Given the description of an element on the screen output the (x, y) to click on. 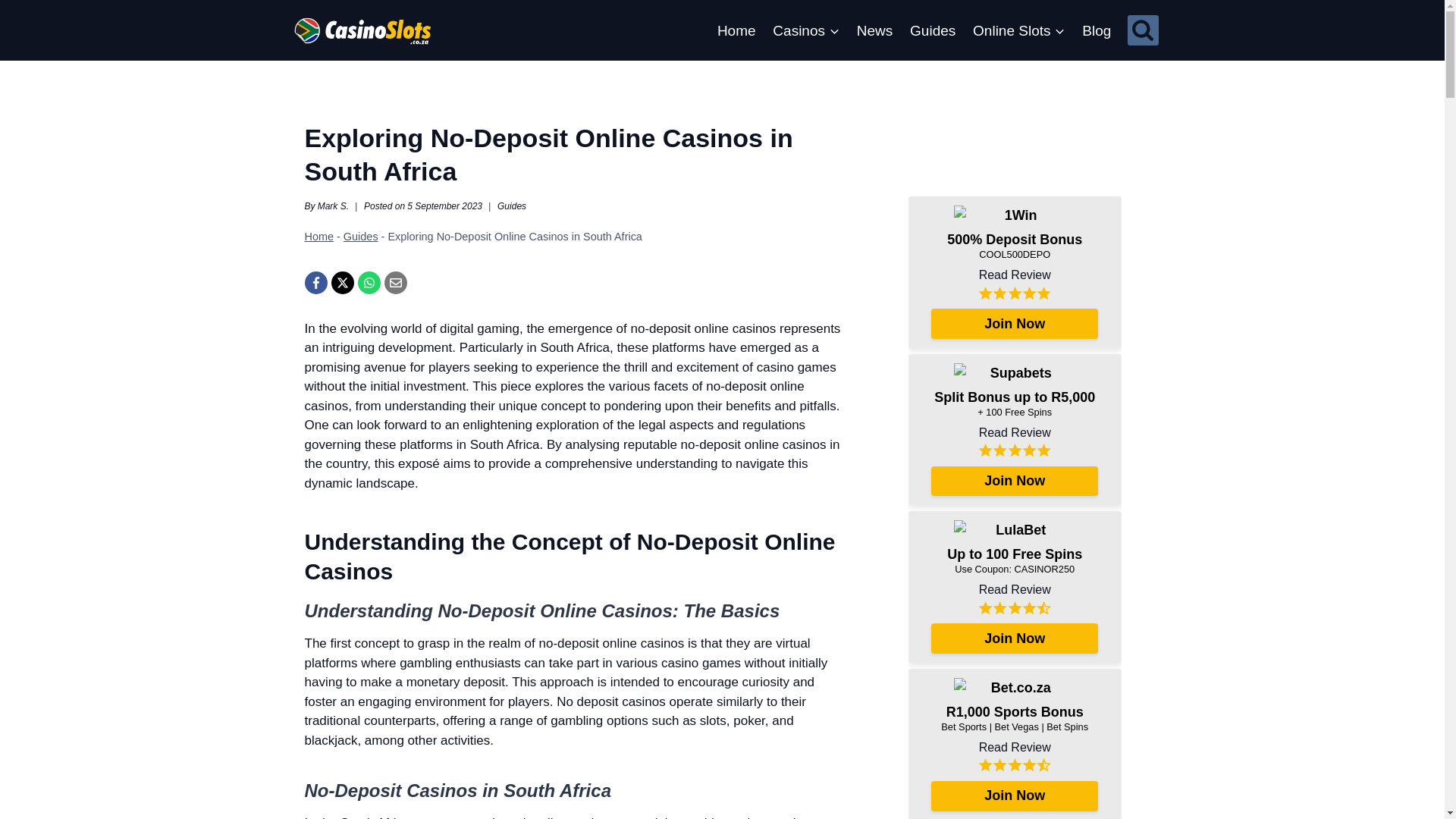
Home (319, 236)
Guides (932, 30)
Online Slots (1018, 30)
Guides (511, 205)
Blog (1096, 30)
Guides (360, 236)
Home (734, 30)
Casinos (805, 30)
News (874, 30)
